Given the description of an element on the screen output the (x, y) to click on. 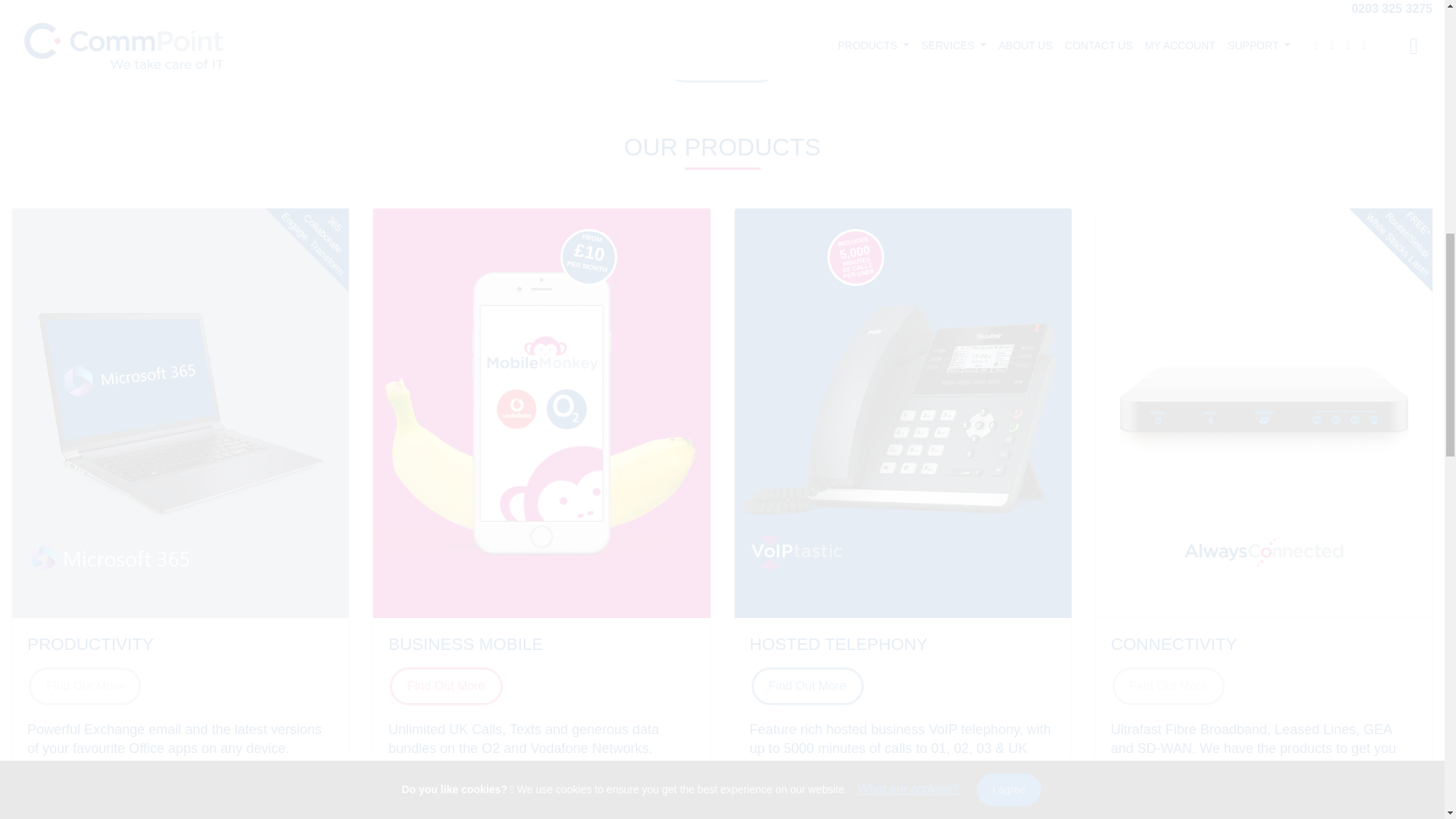
Find Out More (84, 684)
Find Out More (85, 686)
PRODUCTIVITY (90, 643)
Find Out More (721, 63)
